Given the description of an element on the screen output the (x, y) to click on. 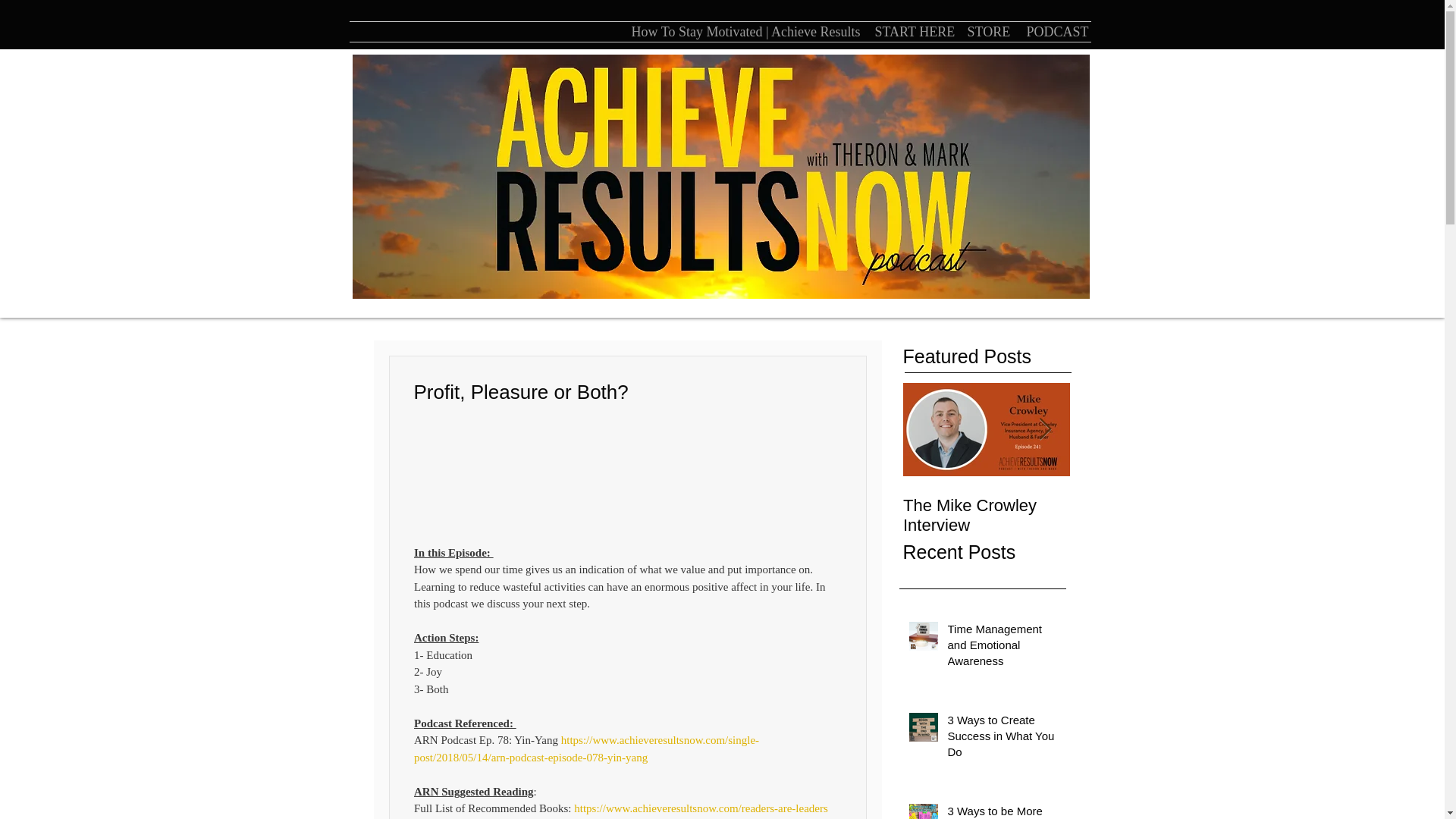
The Mike Crowley Interview (985, 515)
PODCAST (1052, 31)
3 Ways to be More Proactive (1002, 811)
STORE (984, 31)
3 Ways to Create Success in What You Do (1002, 738)
Time Management and Emotional Awareness (1002, 647)
Our First 3 Podcasts (1152, 505)
START HERE (909, 31)
